Given the description of an element on the screen output the (x, y) to click on. 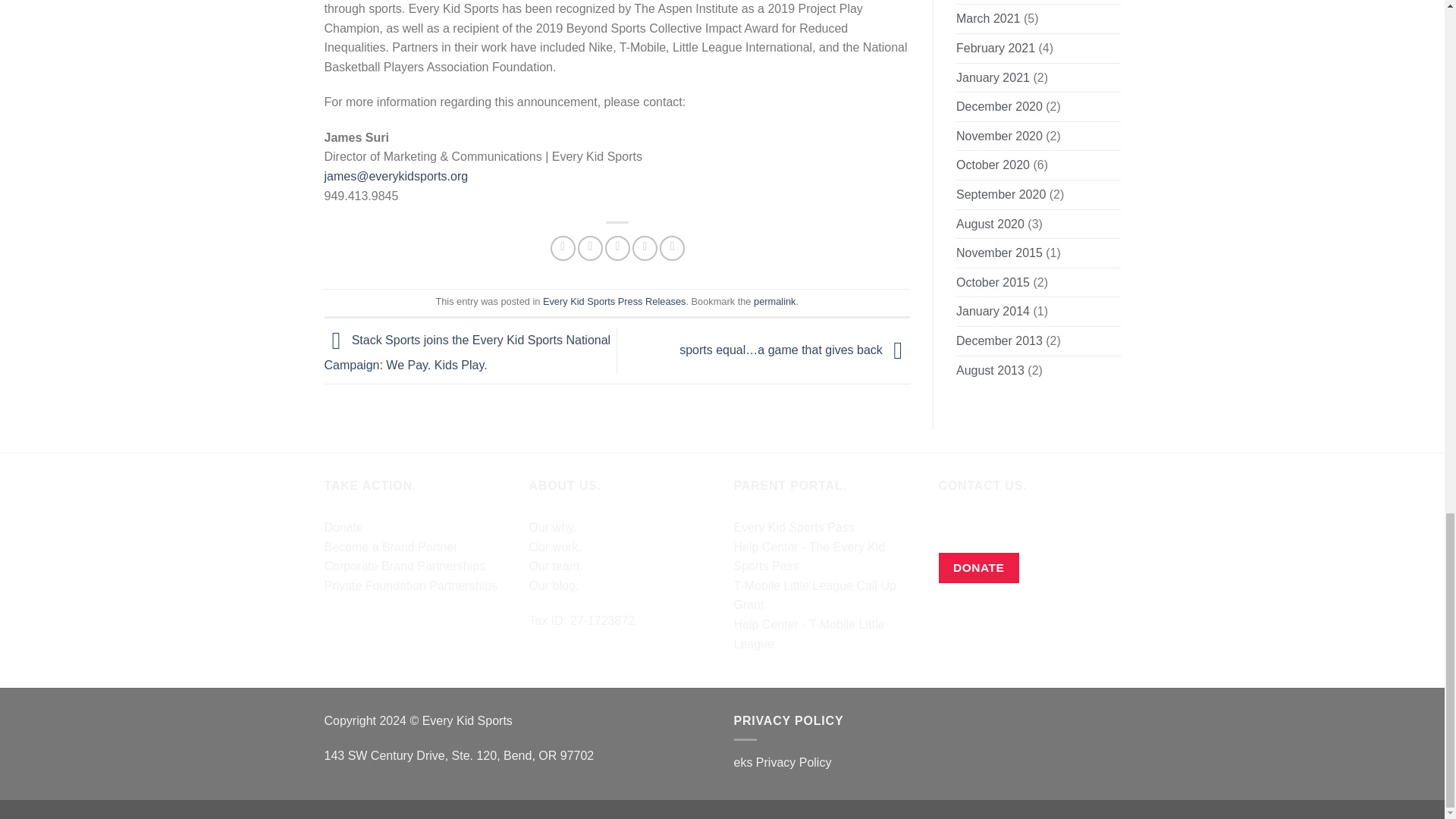
Share on LinkedIn (671, 248)
Every Kid Sports Press Releases (614, 301)
Email to a Friend (617, 248)
Share on Twitter (590, 248)
Pin on Pinterest (644, 248)
permalink (774, 301)
Share on Facebook (562, 248)
